Given the description of an element on the screen output the (x, y) to click on. 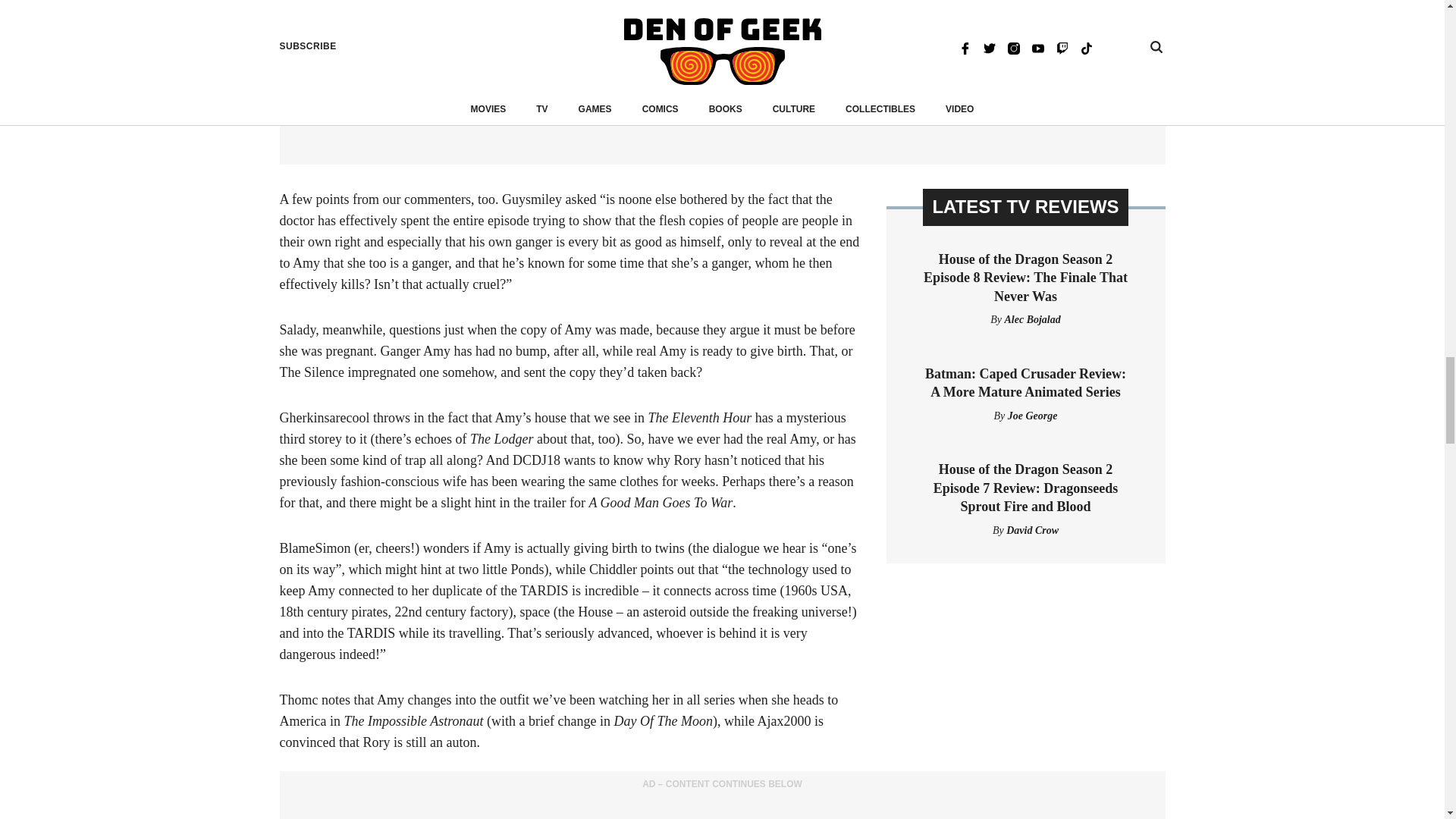
David Crow (1032, 530)
Alec Bojalad (1031, 319)
Batman: Caped Crusader Review: A More Mature Animated Series (1024, 382)
Joe George (1032, 415)
